Given the description of an element on the screen output the (x, y) to click on. 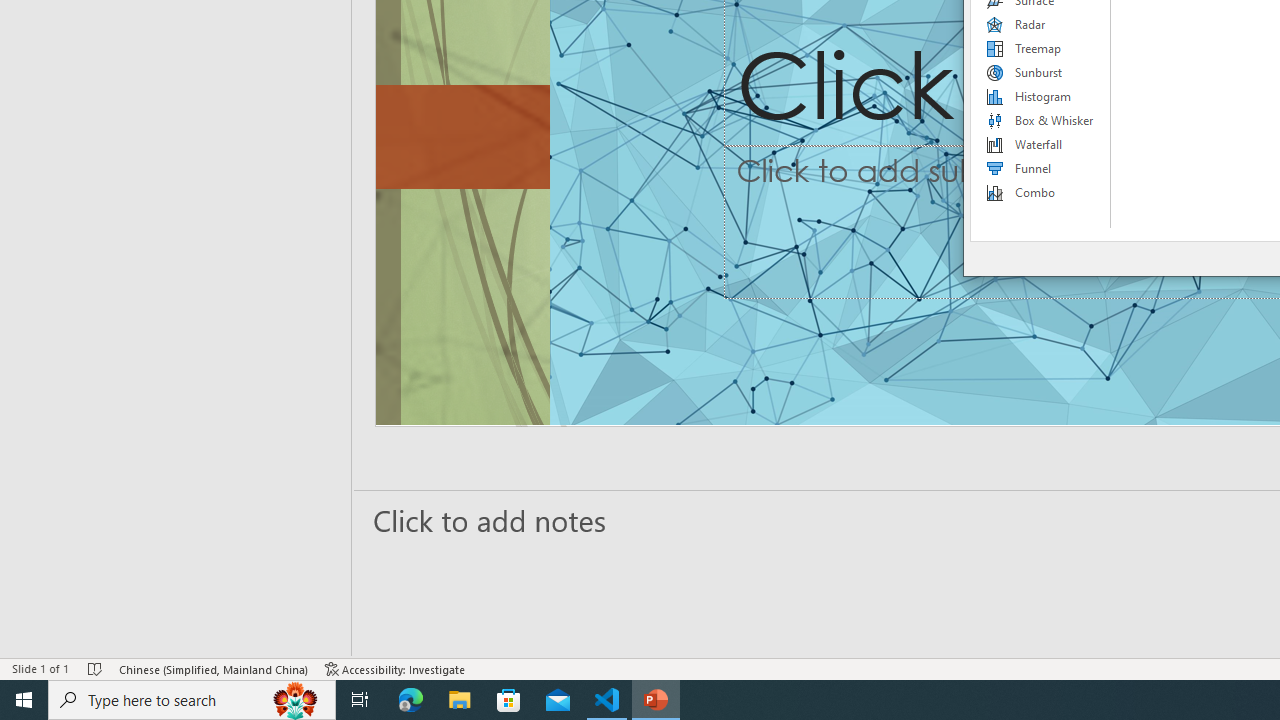
Combo (1041, 192)
Treemap (1041, 48)
Waterfall (1041, 144)
